Given the description of an element on the screen output the (x, y) to click on. 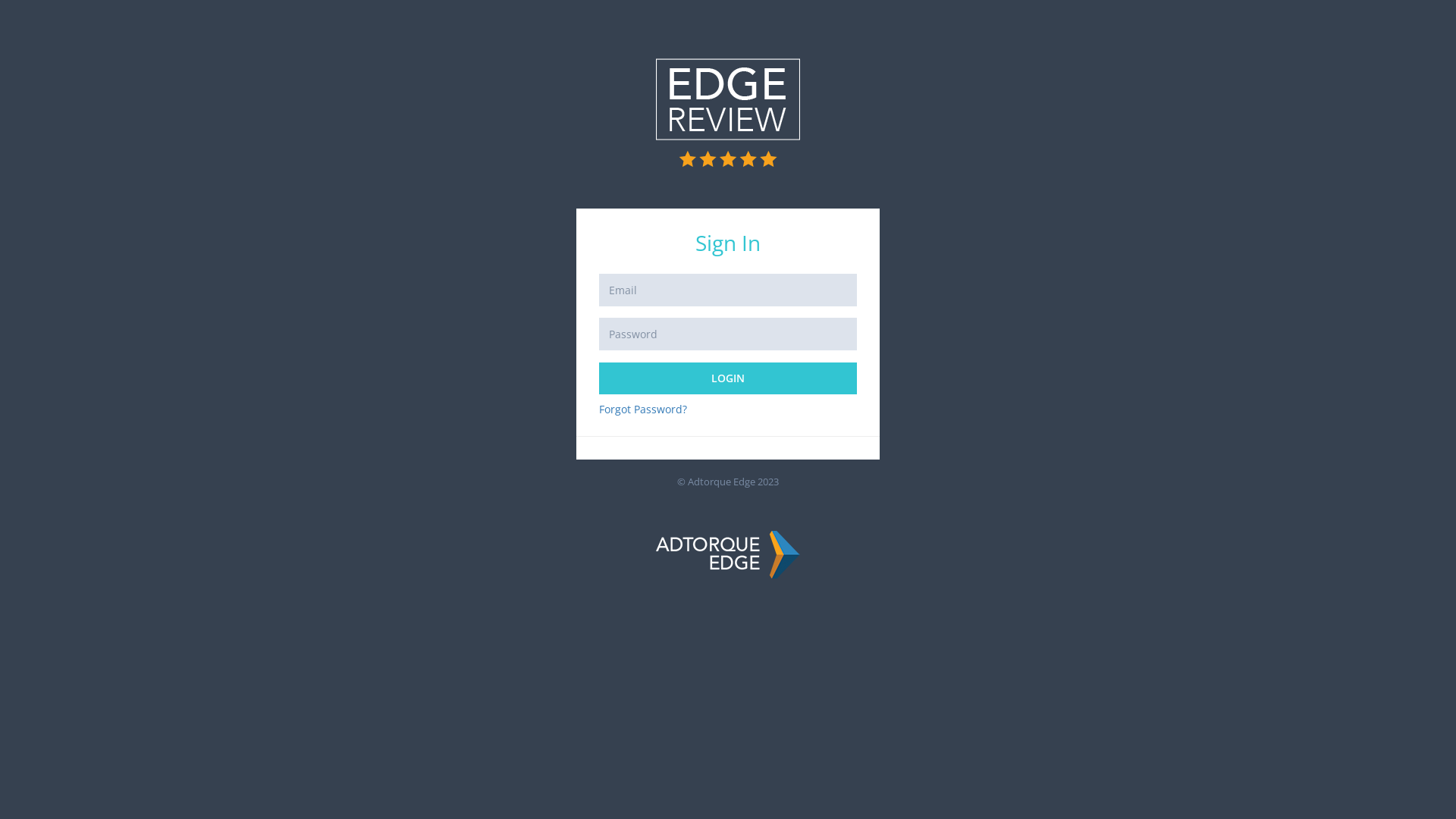
Forgot Password? Element type: text (643, 409)
LOGIN Element type: text (727, 378)
